Given the description of an element on the screen output the (x, y) to click on. 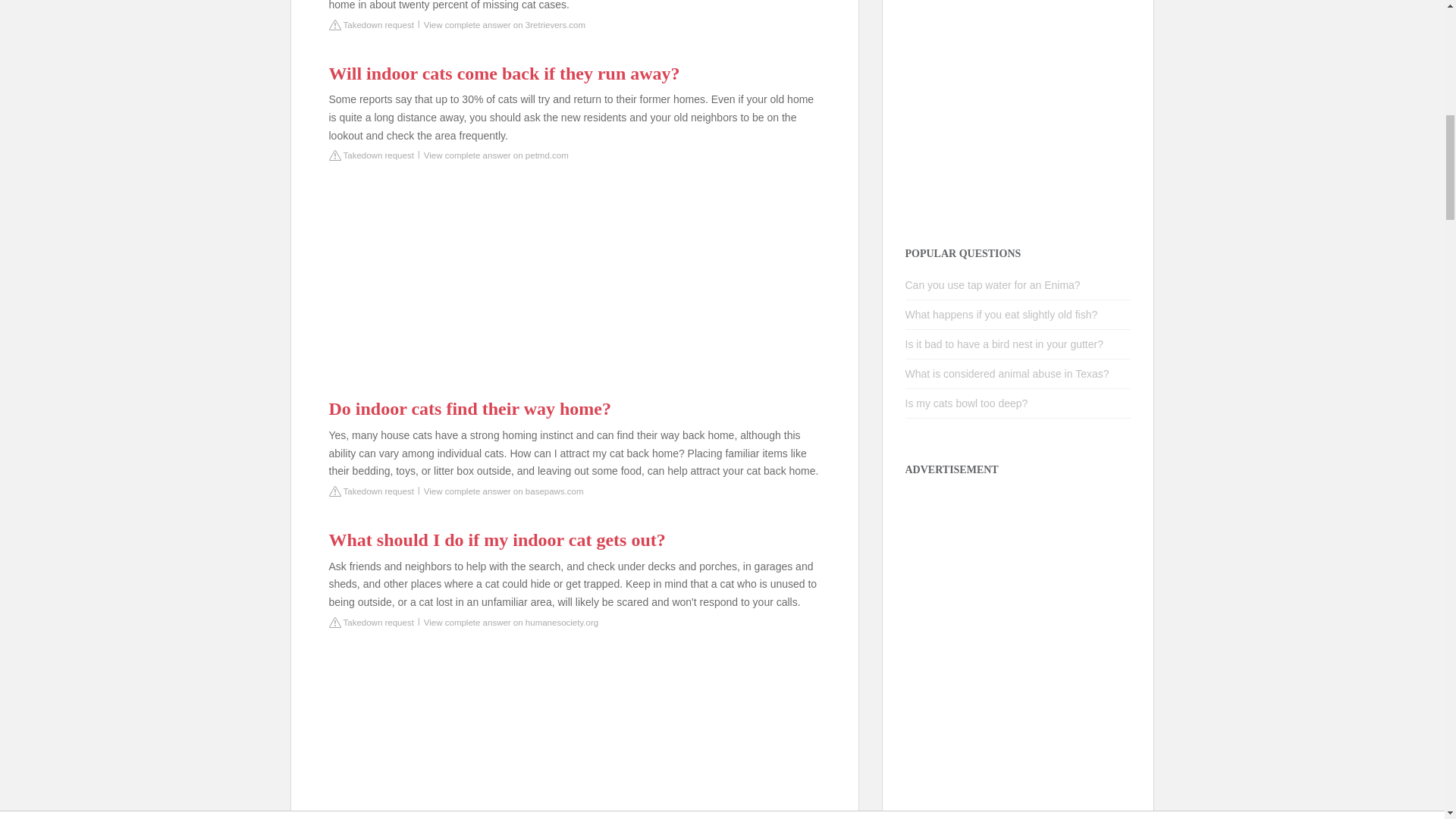
 Takedown request (371, 622)
 Takedown request (371, 24)
View complete answer on humanesociety.org (510, 622)
 Takedown request (371, 491)
 Takedown request (371, 155)
View complete answer on basepaws.com (503, 491)
View complete answer on petmd.com (496, 155)
View complete answer on 3retrievers.com (504, 24)
